Given the description of an element on the screen output the (x, y) to click on. 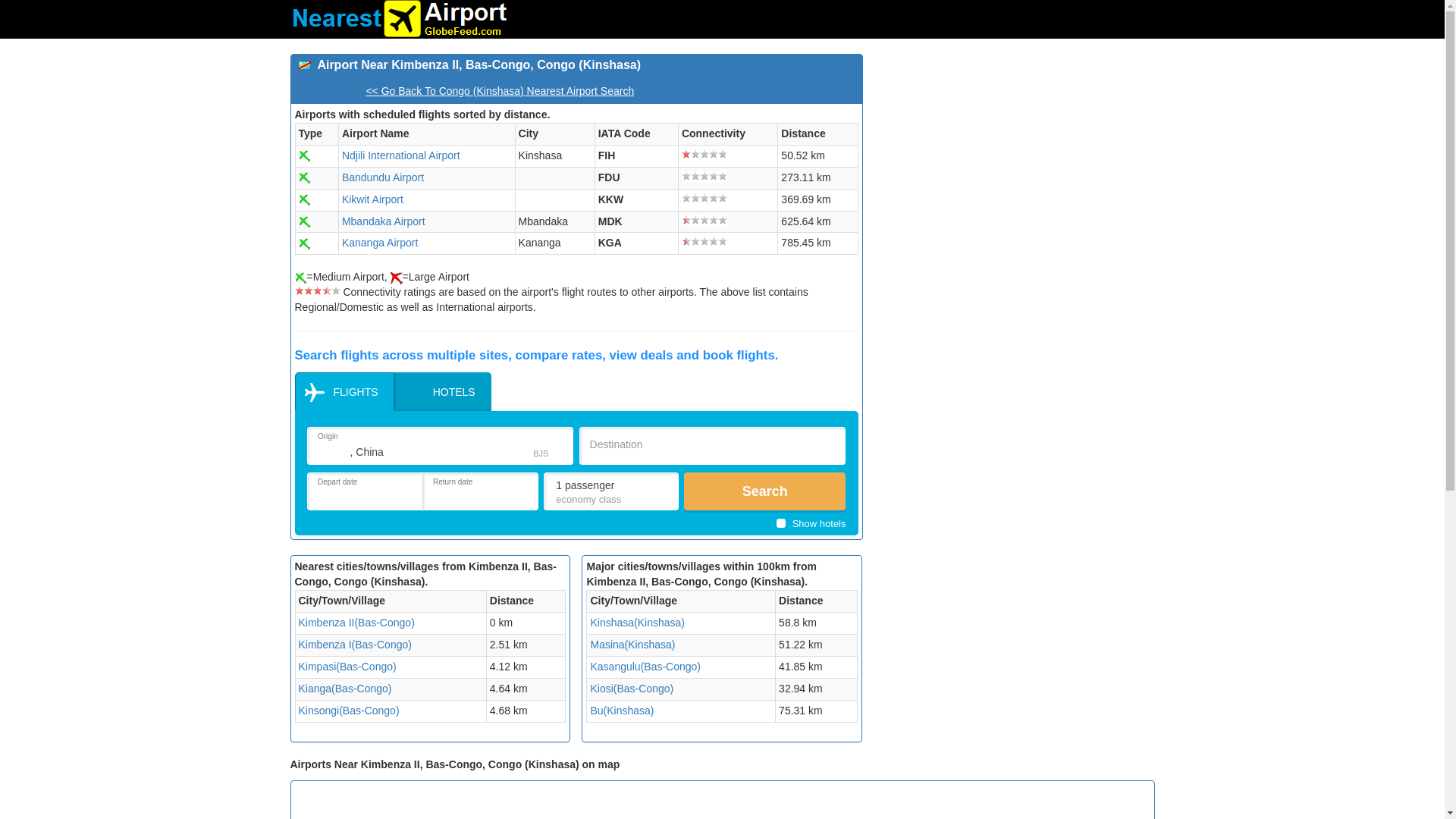
Ndjili International Airport (401, 155)
Advertisement (1013, 160)
Search (764, 491)
Advertisement (1083, 801)
Mbandaka Airport (383, 221)
Search Nearest Airport (398, 18)
Bandundu Airport (382, 177)
Kikwit Airport (372, 199)
Kananga Airport (379, 242)
